Given the description of an element on the screen output the (x, y) to click on. 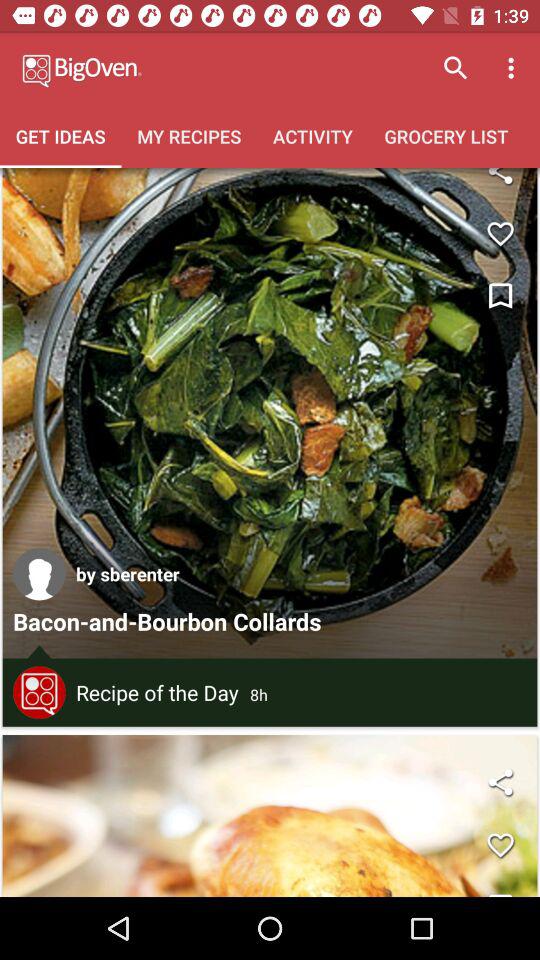
open new page (269, 816)
